Given the description of an element on the screen output the (x, y) to click on. 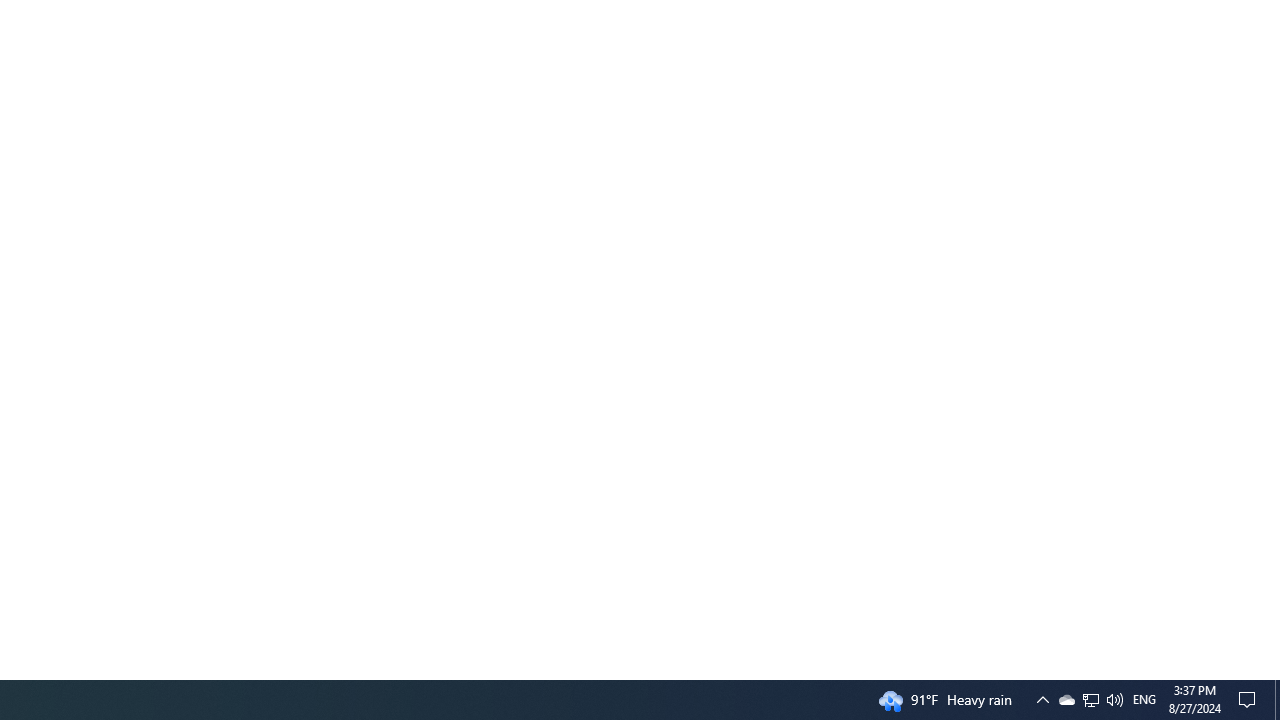
Tray Input Indicator - English (United States) (1144, 699)
